Given the description of an element on the screen output the (x, y) to click on. 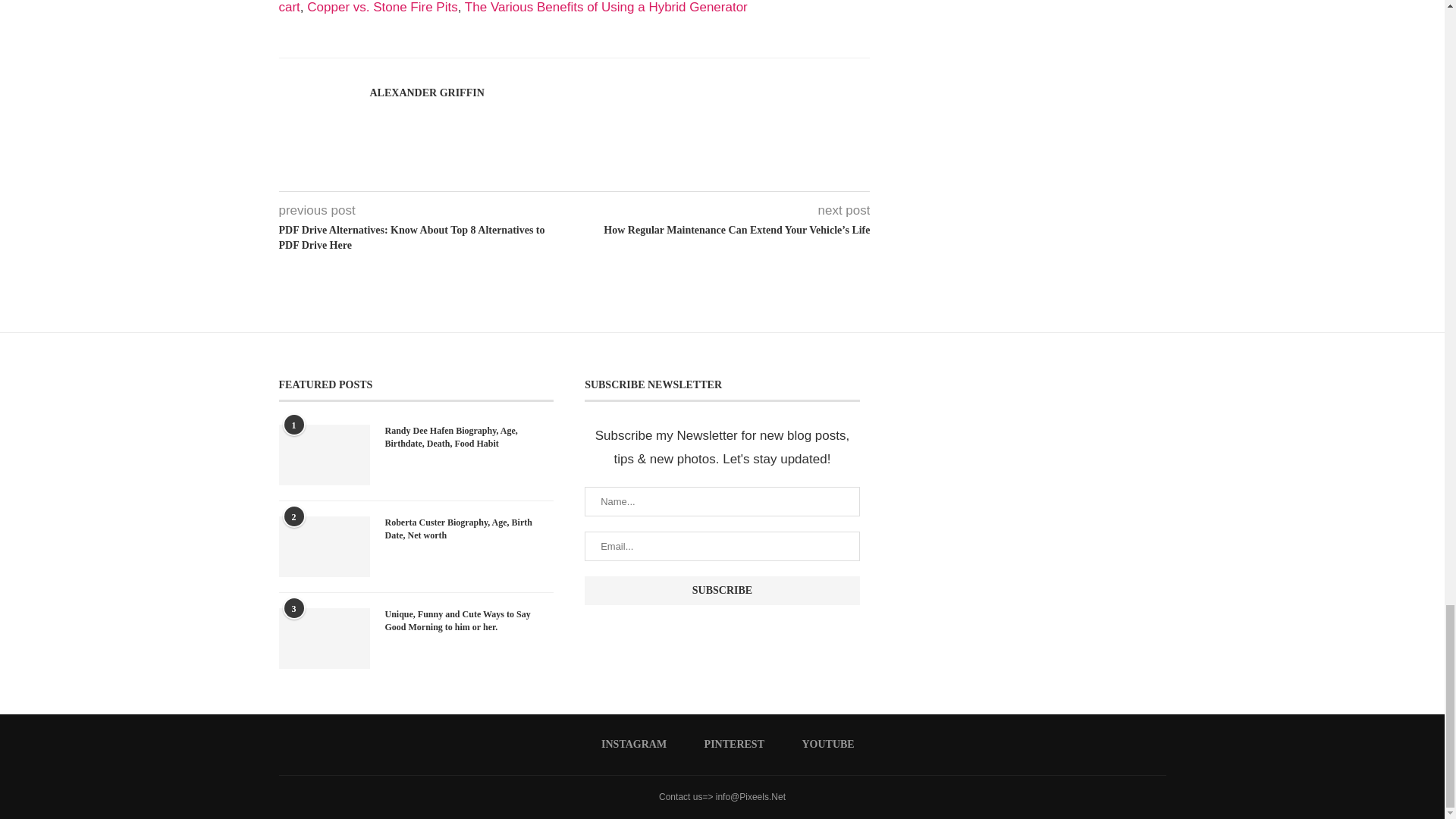
Randy Dee Hafen Biography, Age, Birthdate, Death, Food Habit (469, 437)
Roberta Custer Biography, Age, Birth Date, Net worth (324, 546)
Copper vs. Stone Fire Pits (382, 7)
ALEXANDER GRIFFIN (426, 92)
Author Alexander Griffin (426, 92)
Randy Dee Hafen Biography, Age, Birthdate, Death, Food Habit (324, 455)
Roberta Custer Biography, Age, Birth Date, Net worth (469, 529)
Subscribe (722, 590)
The Various Benefits of Using a Hybrid Generator (606, 7)
